Given the description of an element on the screen output the (x, y) to click on. 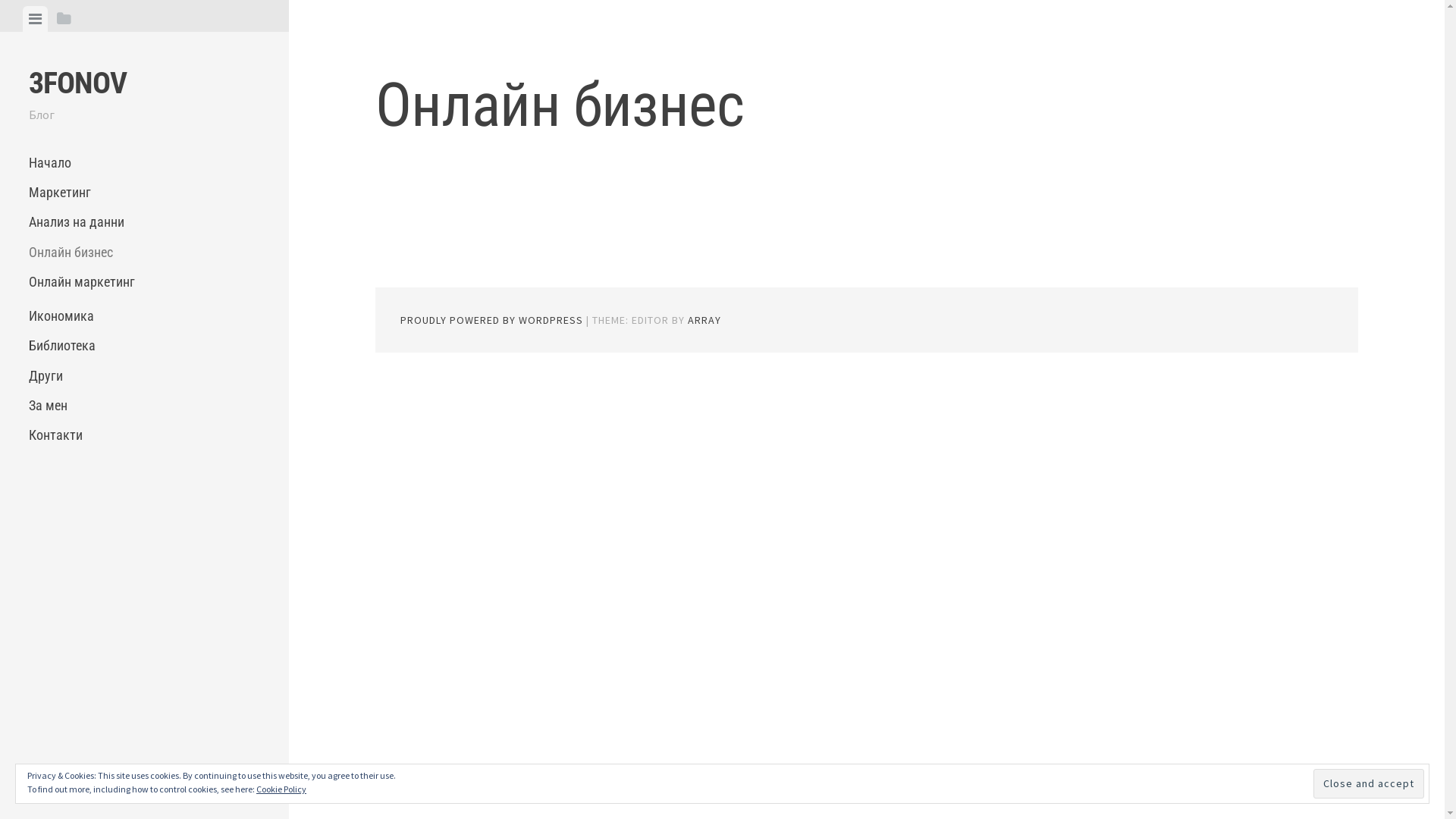
Cookie Policy Element type: text (281, 788)
3FONOV Element type: text (77, 82)
ARRAY Element type: text (704, 319)
PROUDLY POWERED BY WORDPRESS Element type: text (491, 319)
View menu Element type: text (34, 18)
Close and accept Element type: text (1368, 783)
View sidebar Element type: text (63, 18)
